Given the description of an element on the screen output the (x, y) to click on. 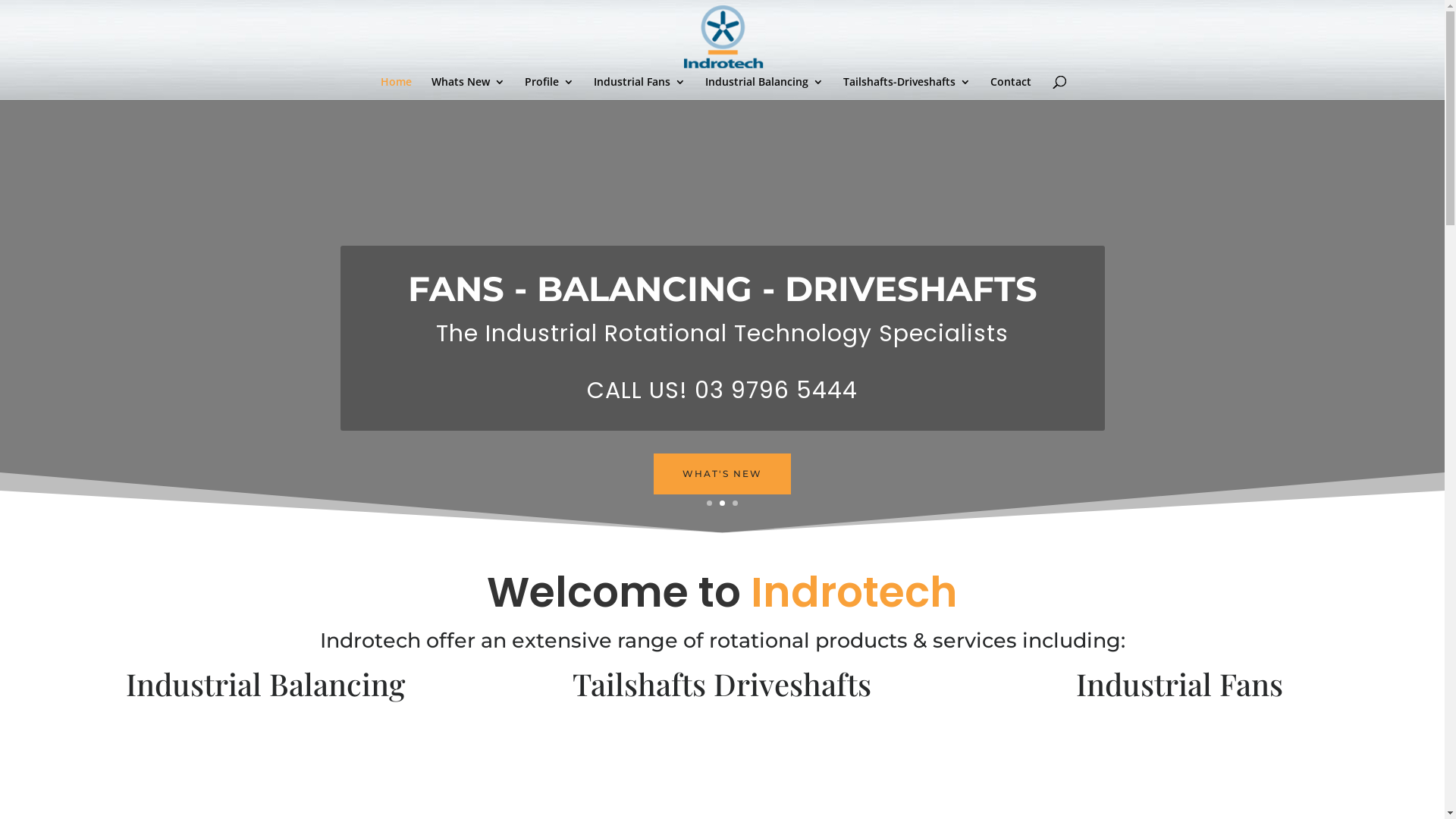
FANS - BALANCING - DRIVESHAFTS Element type: text (722, 288)
Profile Element type: text (549, 88)
Tailshafts-Driveshafts Element type: text (906, 88)
Whats New Element type: text (467, 88)
3 Element type: text (734, 502)
Industrial Fans Element type: text (638, 88)
2 Element type: text (721, 502)
Industrial Balancing Element type: text (764, 88)
Contact Element type: text (1010, 88)
1 Element type: text (709, 502)
Home Element type: text (395, 88)
WHAT'S NEW Element type: text (721, 473)
